Given the description of an element on the screen output the (x, y) to click on. 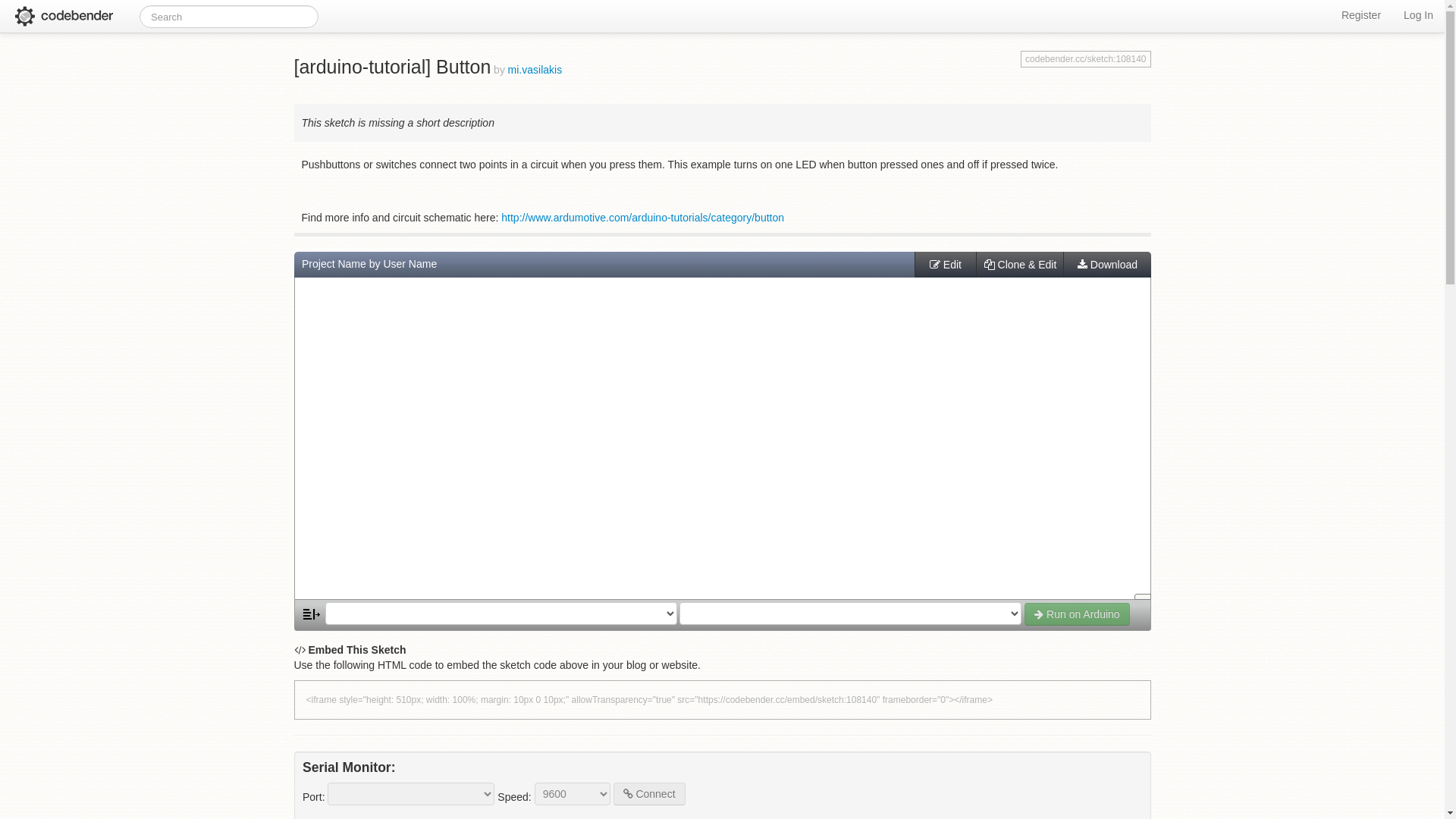
Register Element type: text (1361, 15)
Log In Element type: text (1418, 15)
http://www.ardumotive.com/arduino-tutorials/category/button Element type: text (642, 217)
mi.vasilakis Element type: text (535, 68)
